Given the description of an element on the screen output the (x, y) to click on. 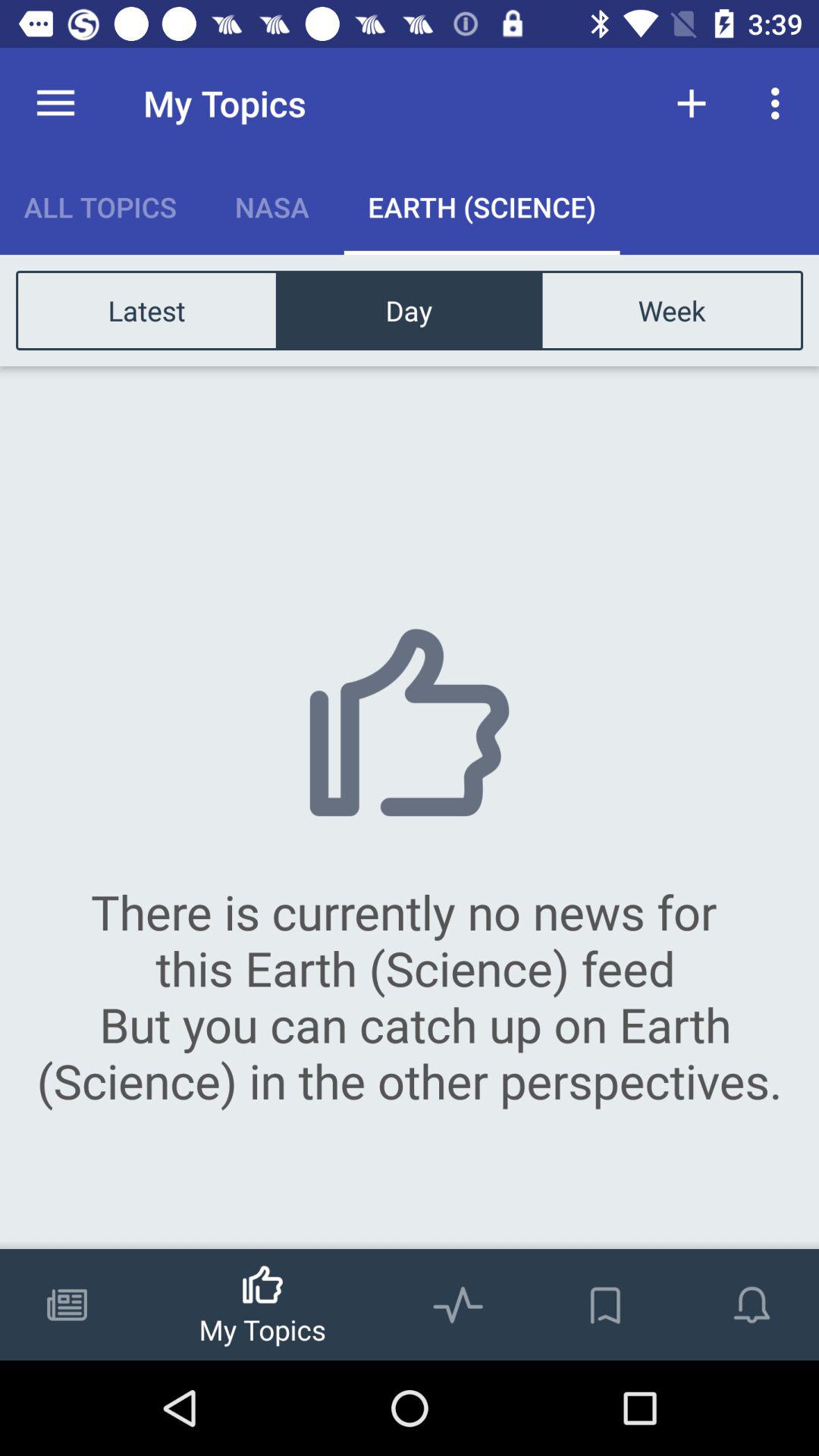
choose icon above there is currently (671, 310)
